Given the description of an element on the screen output the (x, y) to click on. 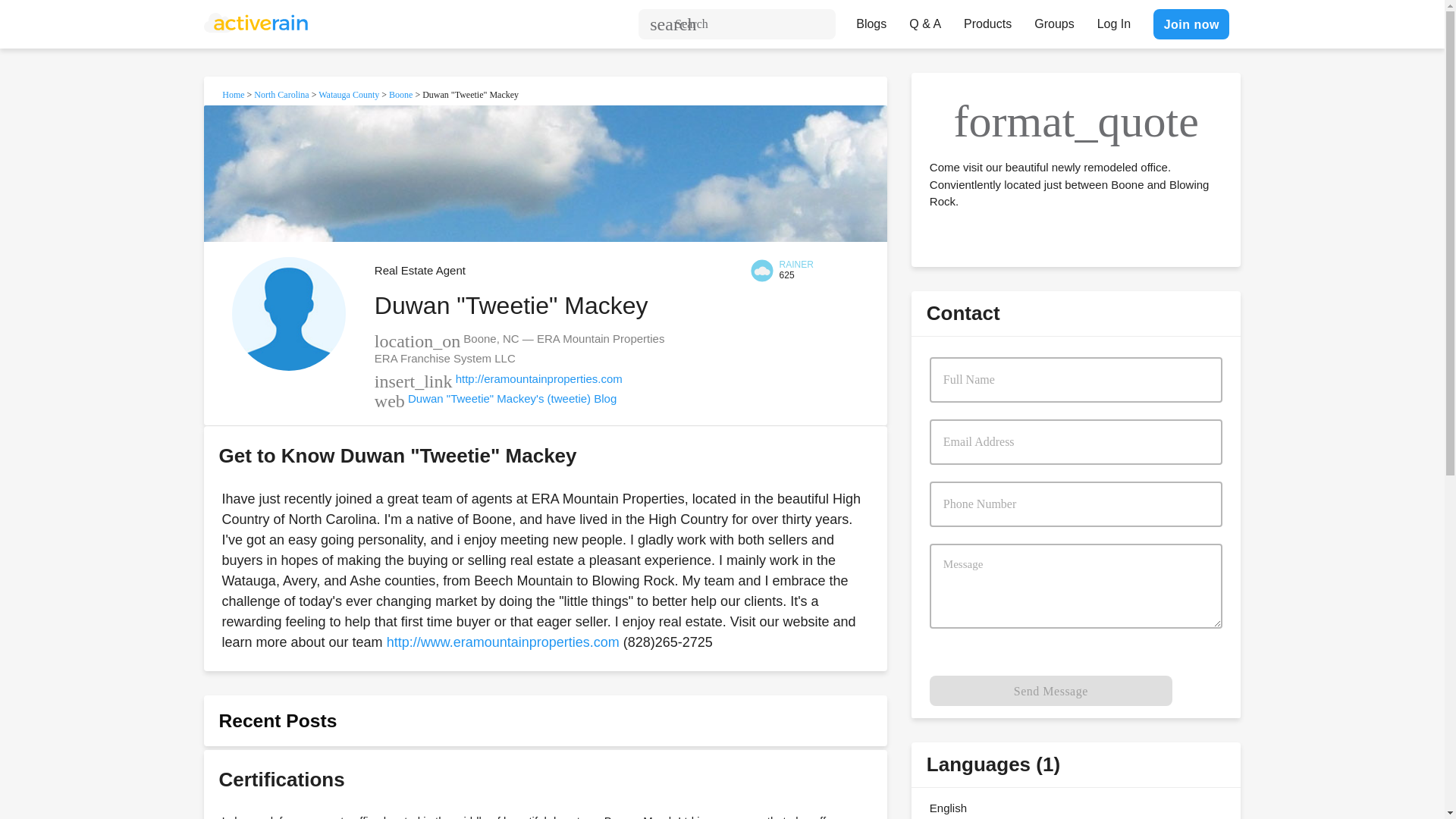
Log In (1113, 19)
Boone (400, 94)
Send Message (1051, 690)
Send Message (1051, 690)
Recent Posts (277, 720)
North Carolina (280, 94)
Groups (1053, 19)
Products (986, 19)
Home (233, 94)
Join now (1190, 24)
Blogs (870, 19)
Watauga County (348, 94)
